Given the description of an element on the screen output the (x, y) to click on. 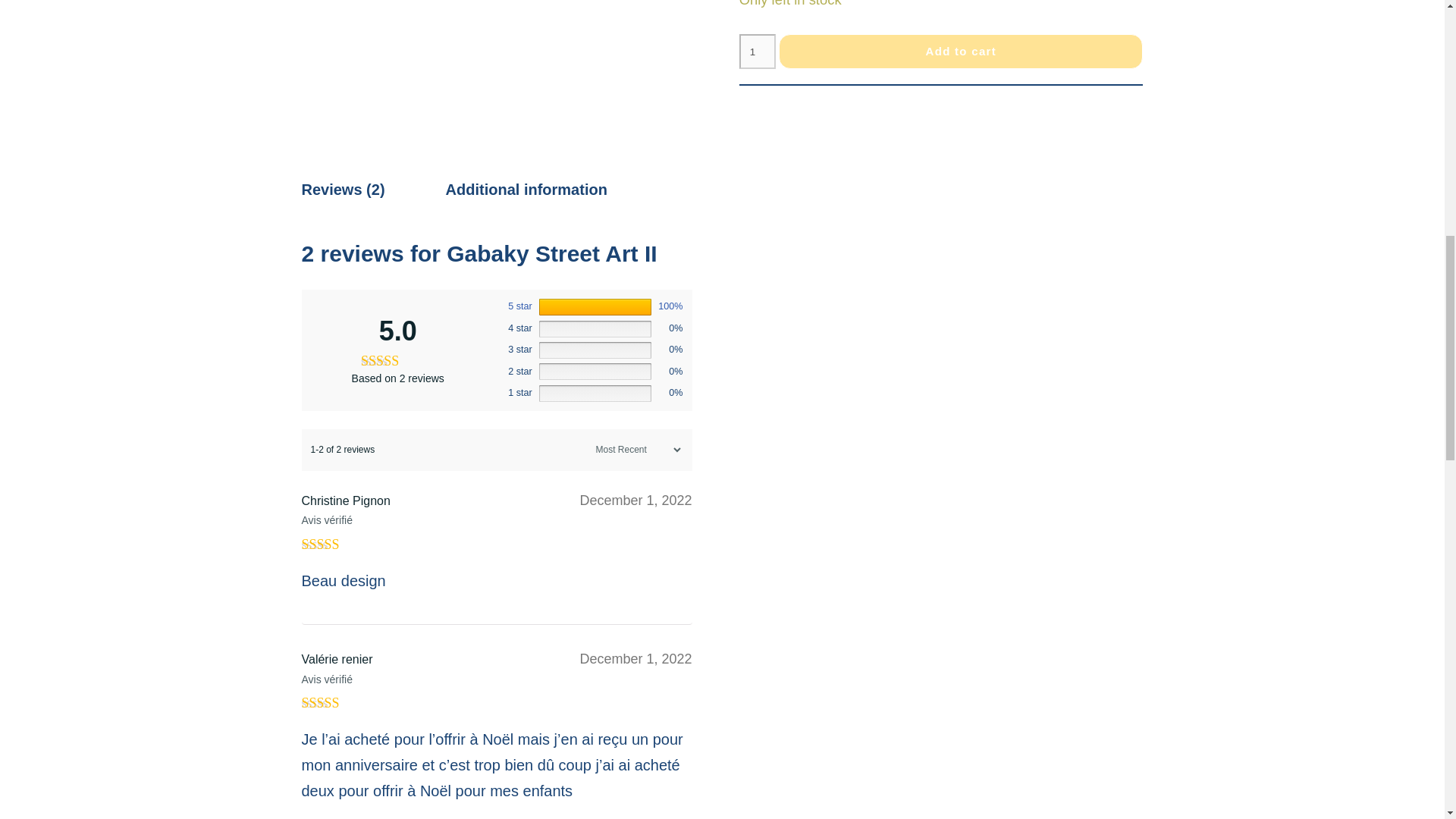
5 star (520, 306)
100 (594, 306)
1 (757, 51)
Additional information (526, 188)
Add to cart (960, 51)
5 star (520, 306)
